Given the description of an element on the screen output the (x, y) to click on. 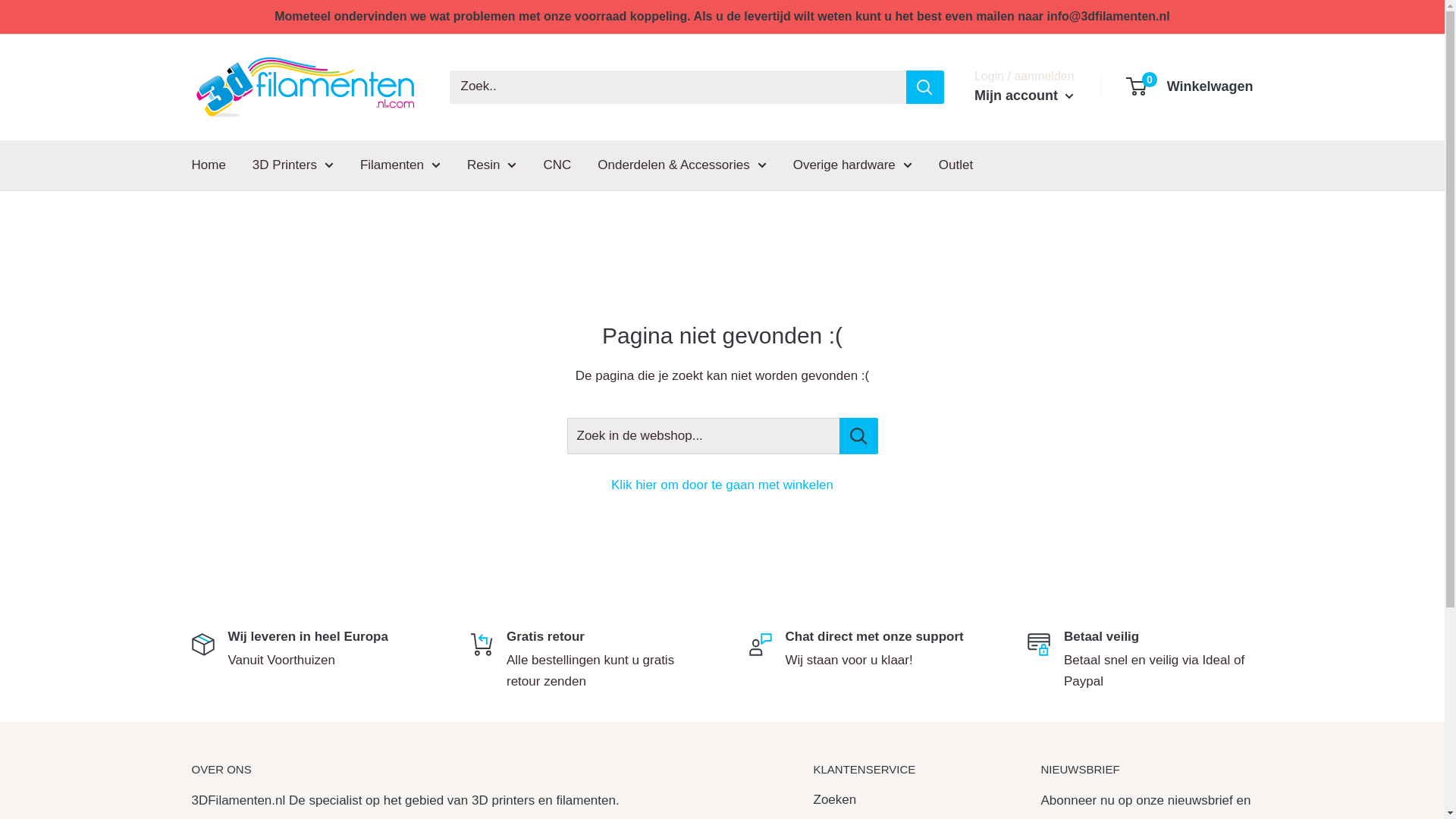
dijkma electronics (345, 818)
